Given the description of an element on the screen output the (x, y) to click on. 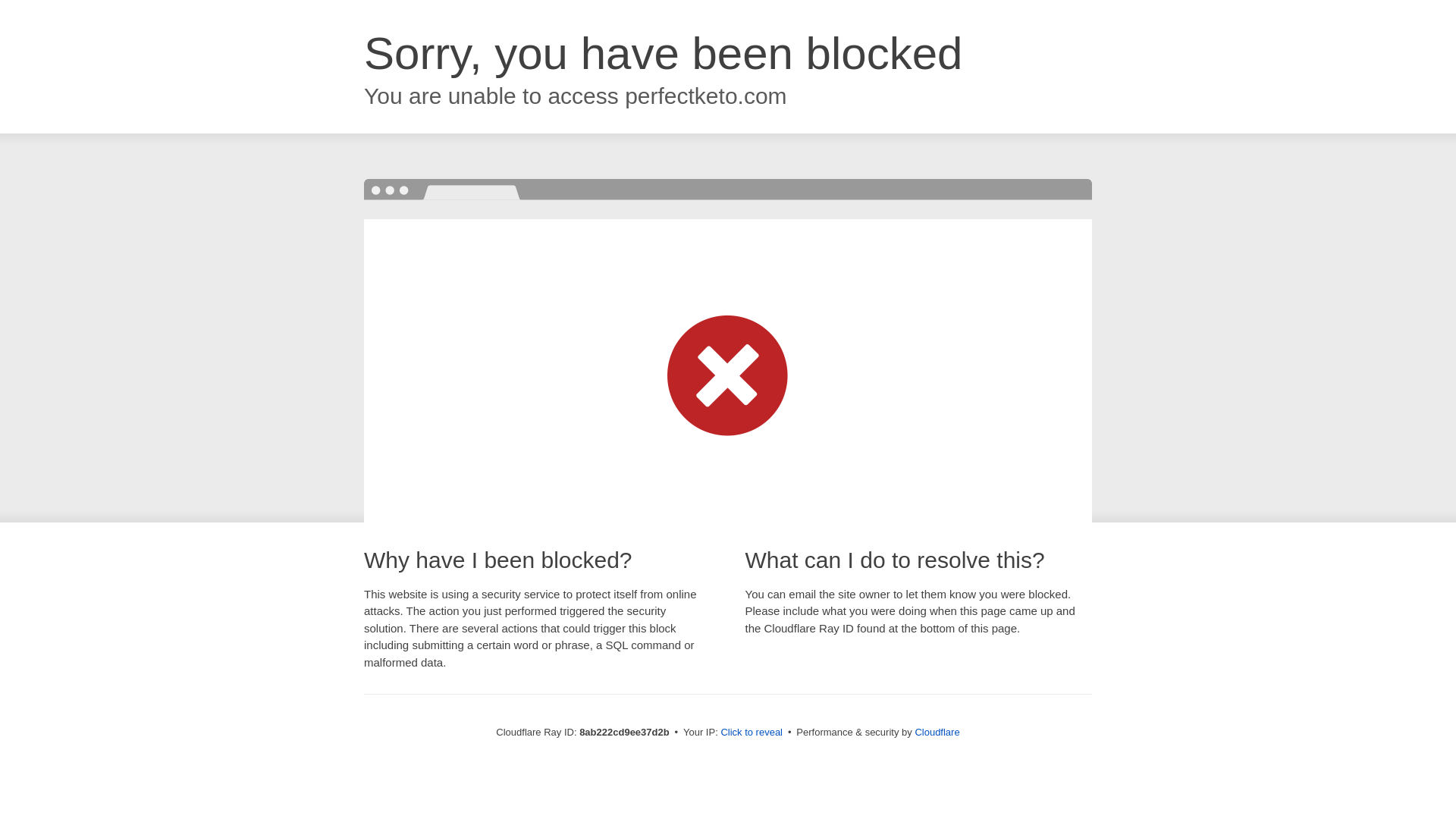
Click to reveal (751, 732)
Cloudflare (936, 731)
